Given the description of an element on the screen output the (x, y) to click on. 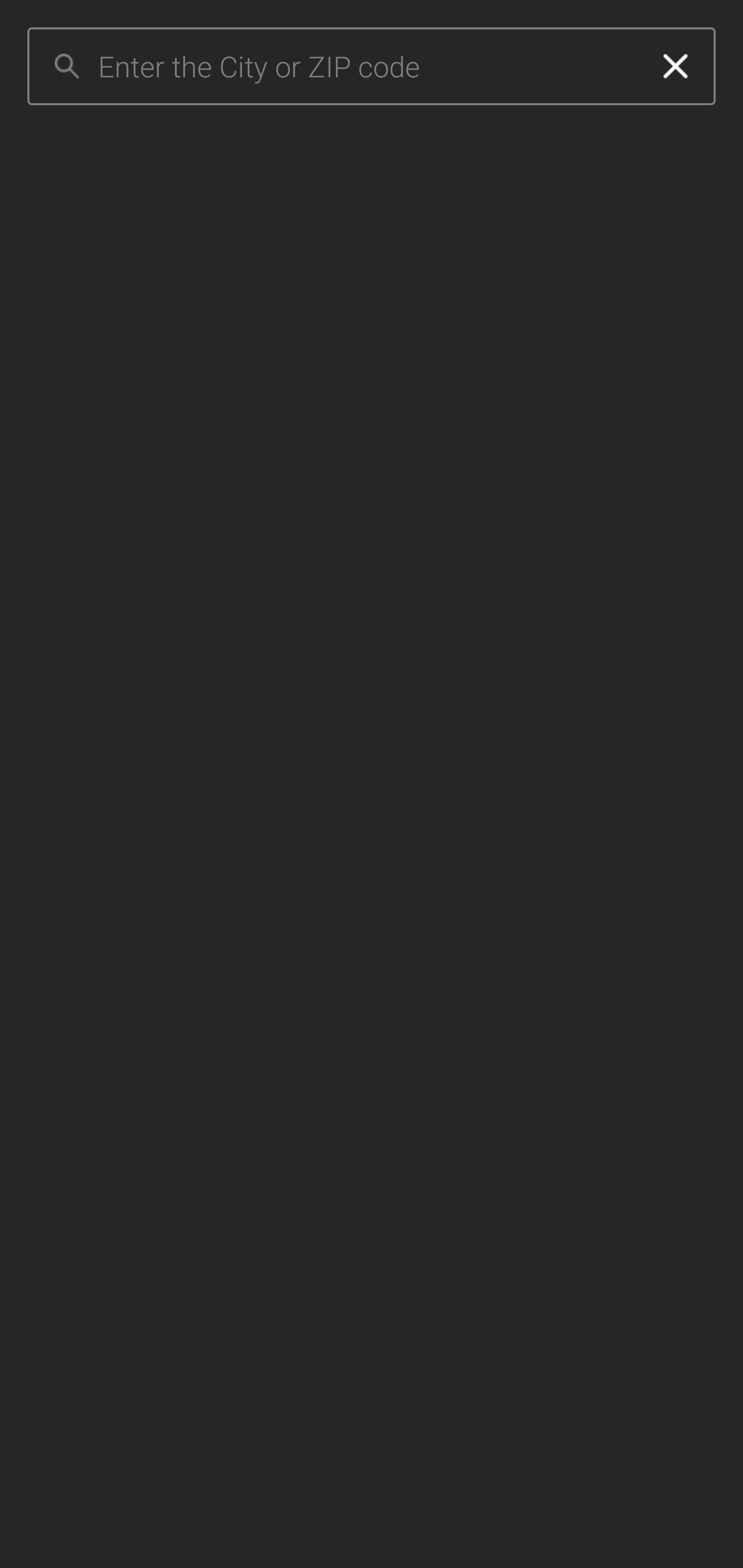
Enter the City or ZIP code (367, 66)
